Given the description of an element on the screen output the (x, y) to click on. 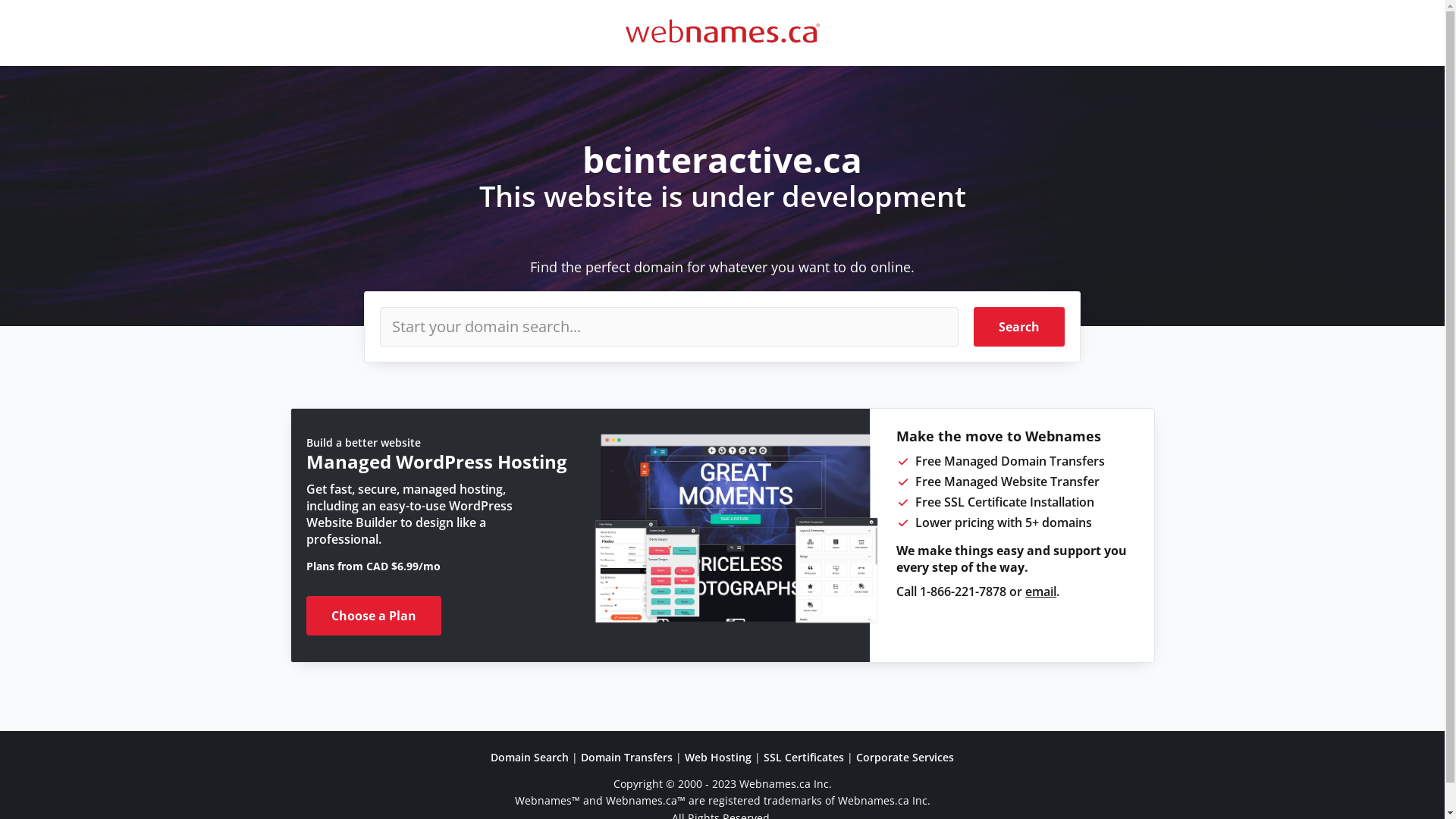
Corporate Services Element type: text (904, 756)
Search Element type: text (1018, 326)
Domain Transfers Element type: text (626, 756)
email Element type: text (1040, 591)
Web Hosting Element type: text (717, 756)
1-866-221-7878 Element type: text (962, 591)
Domain Search Element type: text (529, 756)
SSL Certificates Element type: text (803, 756)
Choose a Plan Element type: text (373, 615)
